Given the description of an element on the screen output the (x, y) to click on. 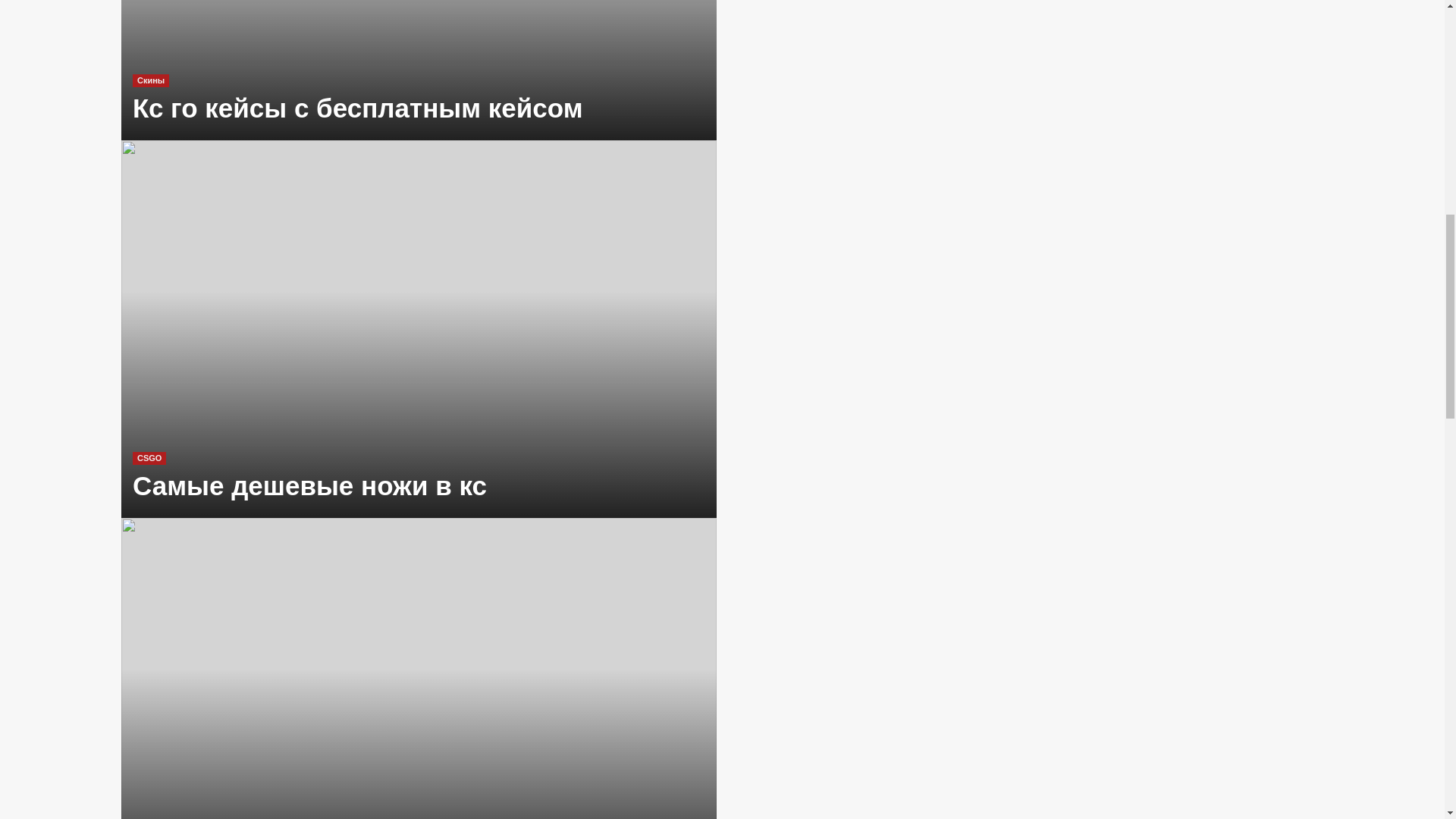
CSGO (148, 458)
